Given the description of an element on the screen output the (x, y) to click on. 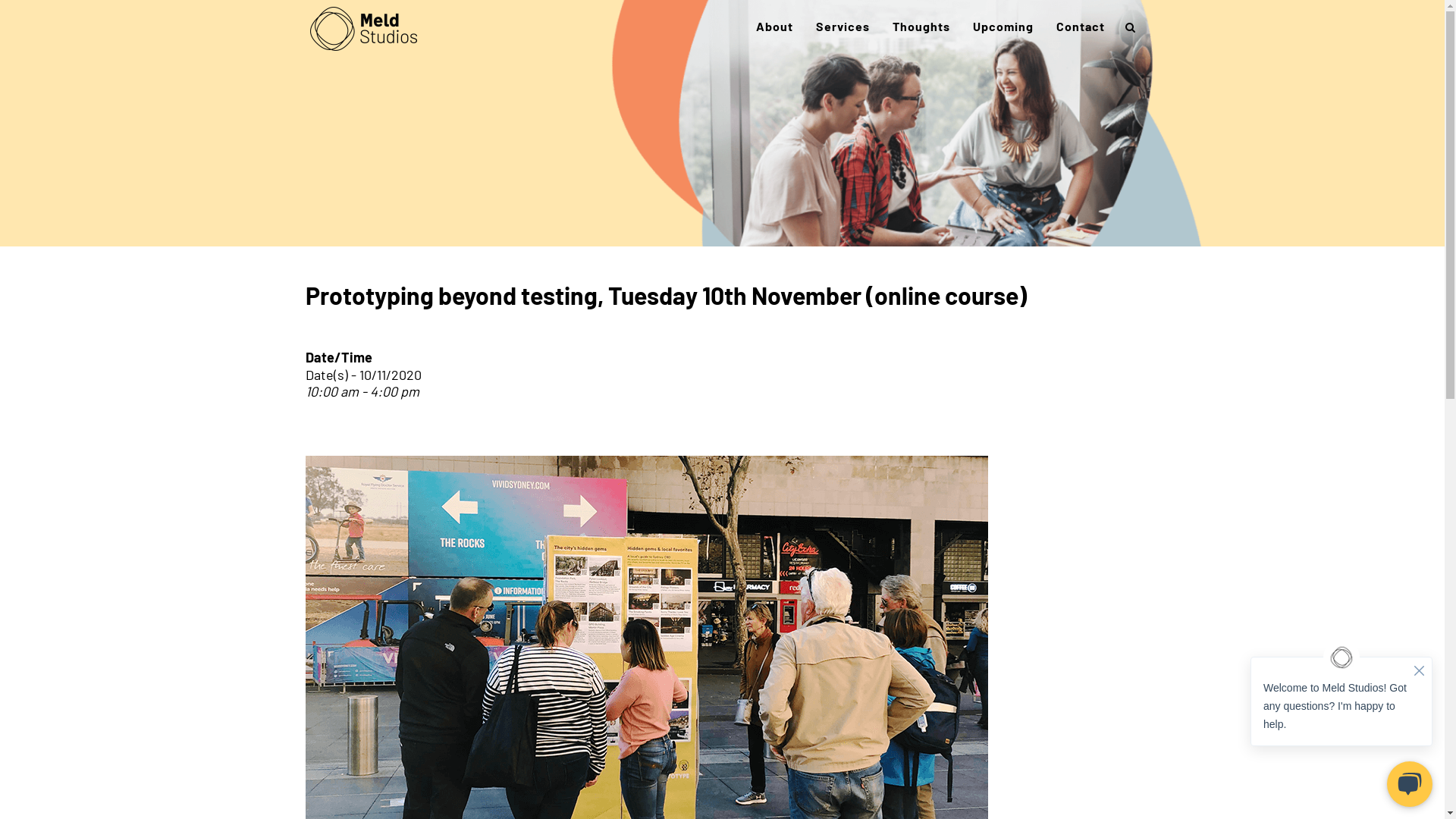
Contact Element type: text (1080, 26)
Meld Studios Element type: hover (362, 28)
Upcoming Element type: text (1002, 26)
Thoughts Element type: text (921, 26)
Services Element type: text (841, 26)
About Element type: text (774, 26)
